Given the description of an element on the screen output the (x, y) to click on. 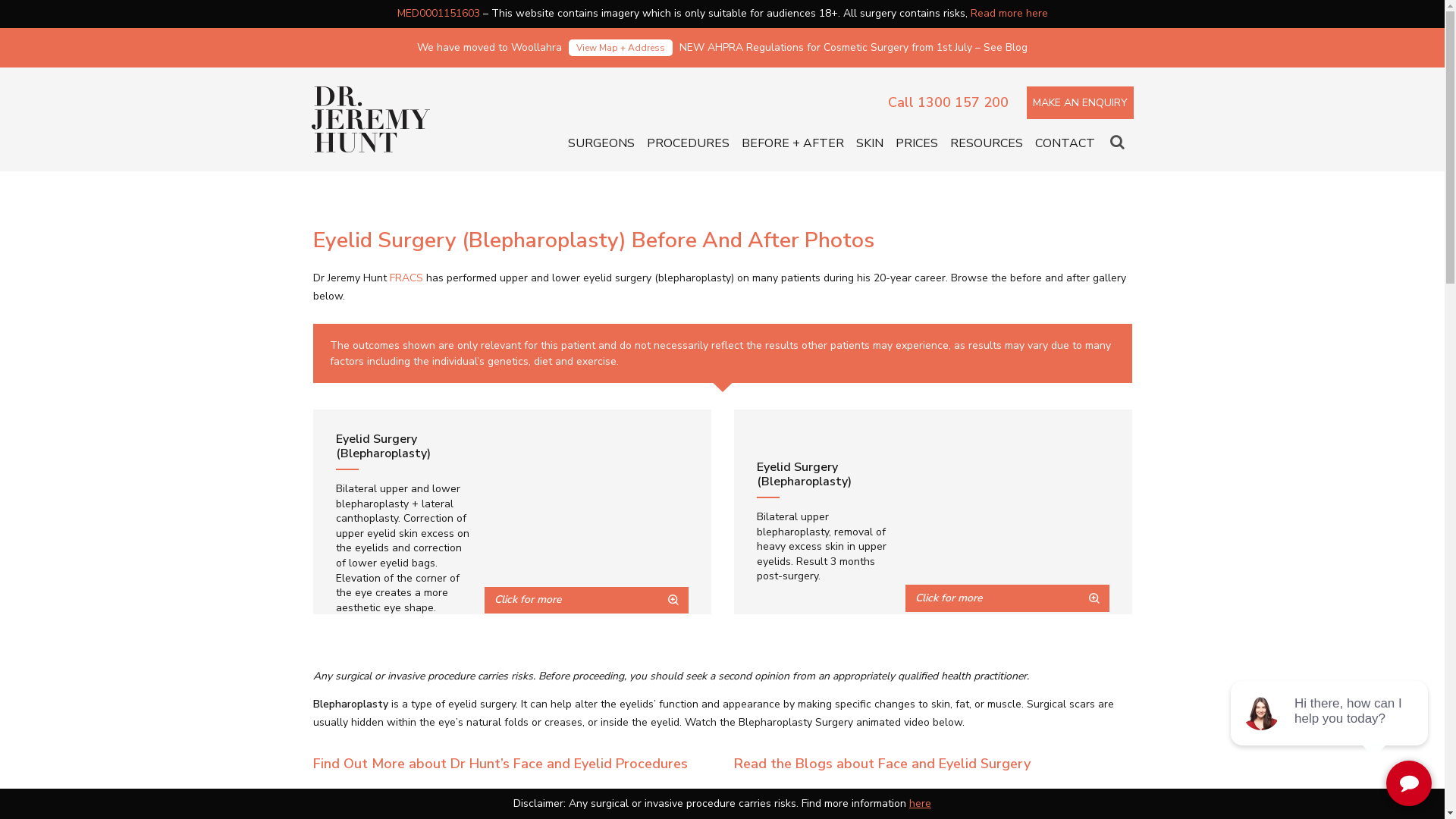
View Map + Address Element type: text (620, 47)
SKIN Element type: text (868, 143)
Eyelid Surgery (Blepharoplasty) Element type: hover (585, 523)
Deep Plane Facelift (Rhytidectomy) Element type: text (489, 792)
Eyelid Surgery (Blepharoplasty) Element type: hover (585, 535)
Call 1300 157 200 Element type: text (947, 102)
FRACS Element type: text (406, 277)
MAKE AN ENQUIRY Element type: text (1079, 102)
PROCEDURES Element type: text (687, 143)
SURGEONS Element type: text (600, 143)
See Blog Element type: text (1005, 47)
CONTACT Element type: text (1064, 143)
MED0001151603 Element type: text (438, 13)
here Element type: text (920, 803)
PRICES Element type: text (915, 143)
Eyelid Surgery (Blepharoplasty) Element type: hover (1007, 521)
RESOURCES Element type: text (985, 143)
Read more here Element type: text (1009, 13)
BEFORE + AFTER Element type: text (792, 143)
Eyelid Surgery (Blepharoplasty) Element type: hover (1007, 534)
